Given the description of an element on the screen output the (x, y) to click on. 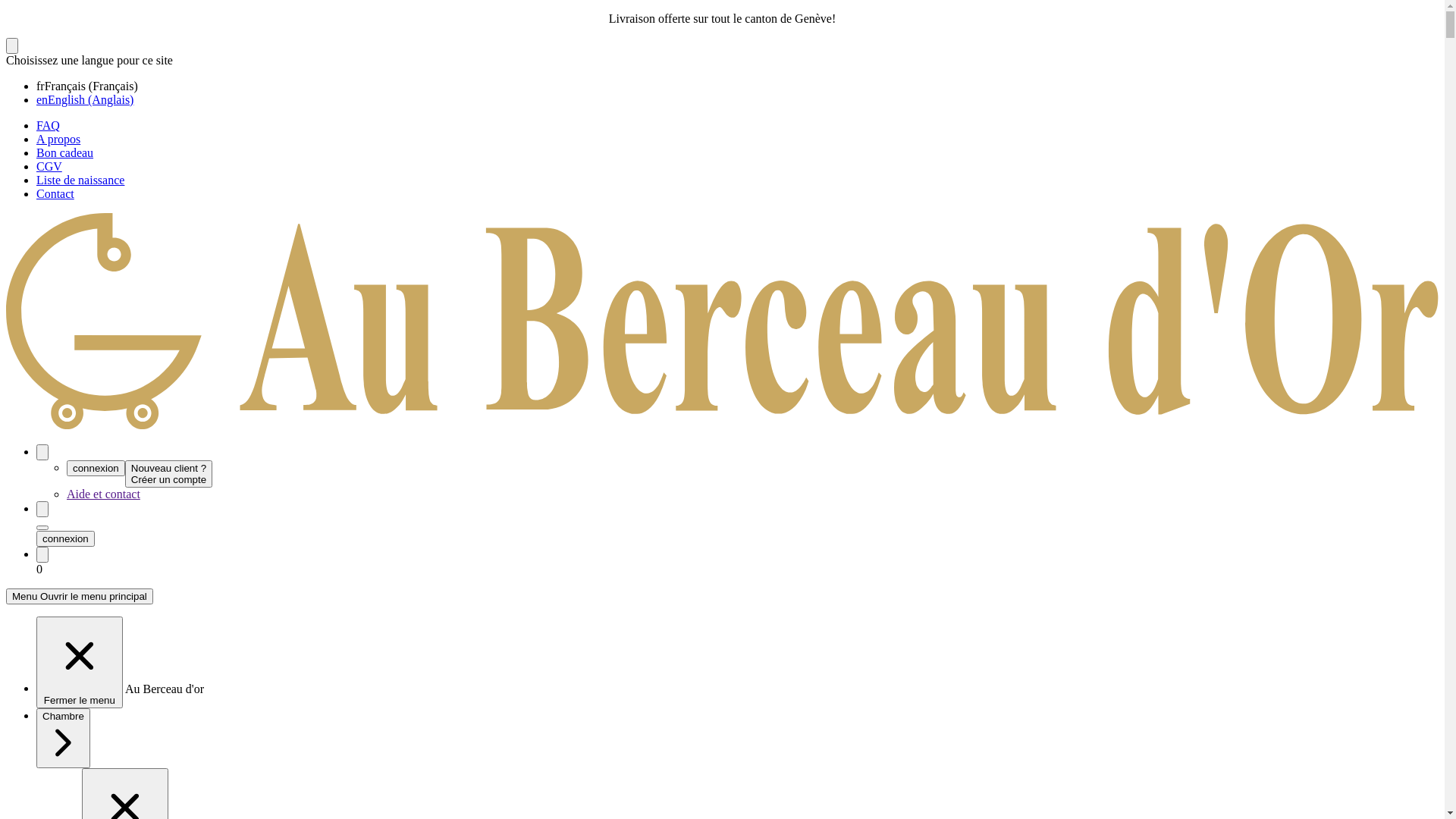
Chambre Element type: text (63, 738)
Liste de naissance Element type: text (80, 179)
Contact Element type: text (55, 193)
CGV Element type: text (49, 166)
Bon cadeau Element type: text (64, 152)
connexion Element type: text (65, 538)
connexion Element type: text (95, 468)
Aide et contact Element type: text (103, 493)
Fermer le menu Element type: text (79, 662)
FAQ Element type: text (47, 125)
Menu Ouvrir le menu principal Element type: text (79, 596)
enEnglish (Anglais) Element type: text (84, 99)
A propos Element type: text (58, 138)
Mon compte Element type: hover (42, 452)
